Given the description of an element on the screen output the (x, y) to click on. 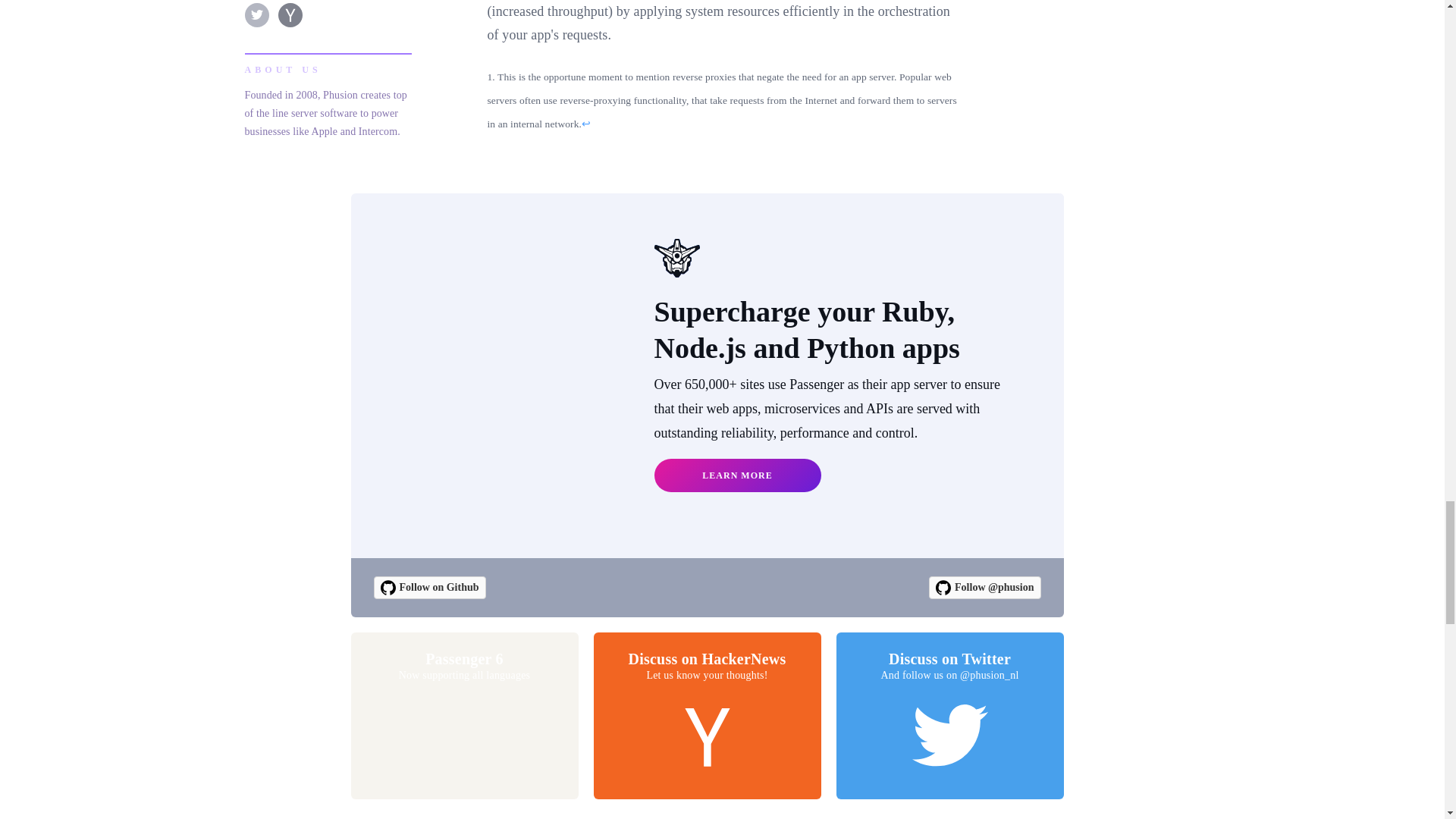
LEARN MORE (737, 475)
Follow on Github (464, 715)
